Given the description of an element on the screen output the (x, y) to click on. 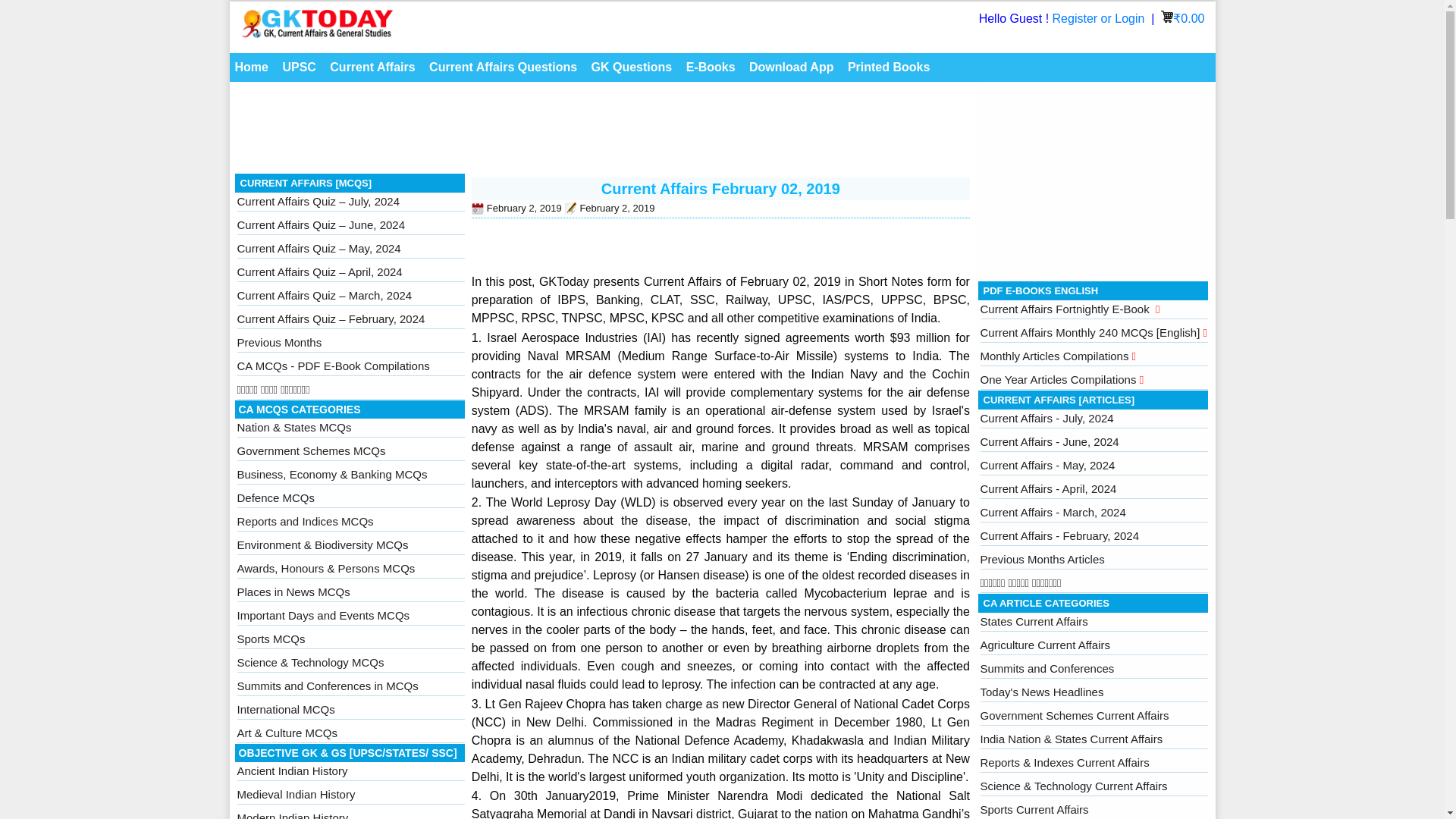
Reports and Indices MCQs (303, 521)
CA MCQs - PDF E-Book Compilations (332, 365)
Defence MCQs (274, 497)
Register or Login (1100, 18)
Download App (791, 67)
Current Affairs (372, 67)
Printed Books (888, 67)
Advertisement (1093, 181)
GK Questions (632, 67)
UPSC (298, 67)
Advertisement (602, 131)
Current Affairs Questions (502, 67)
Previous Months (278, 341)
Government Schemes MCQs (310, 450)
